Given the description of an element on the screen output the (x, y) to click on. 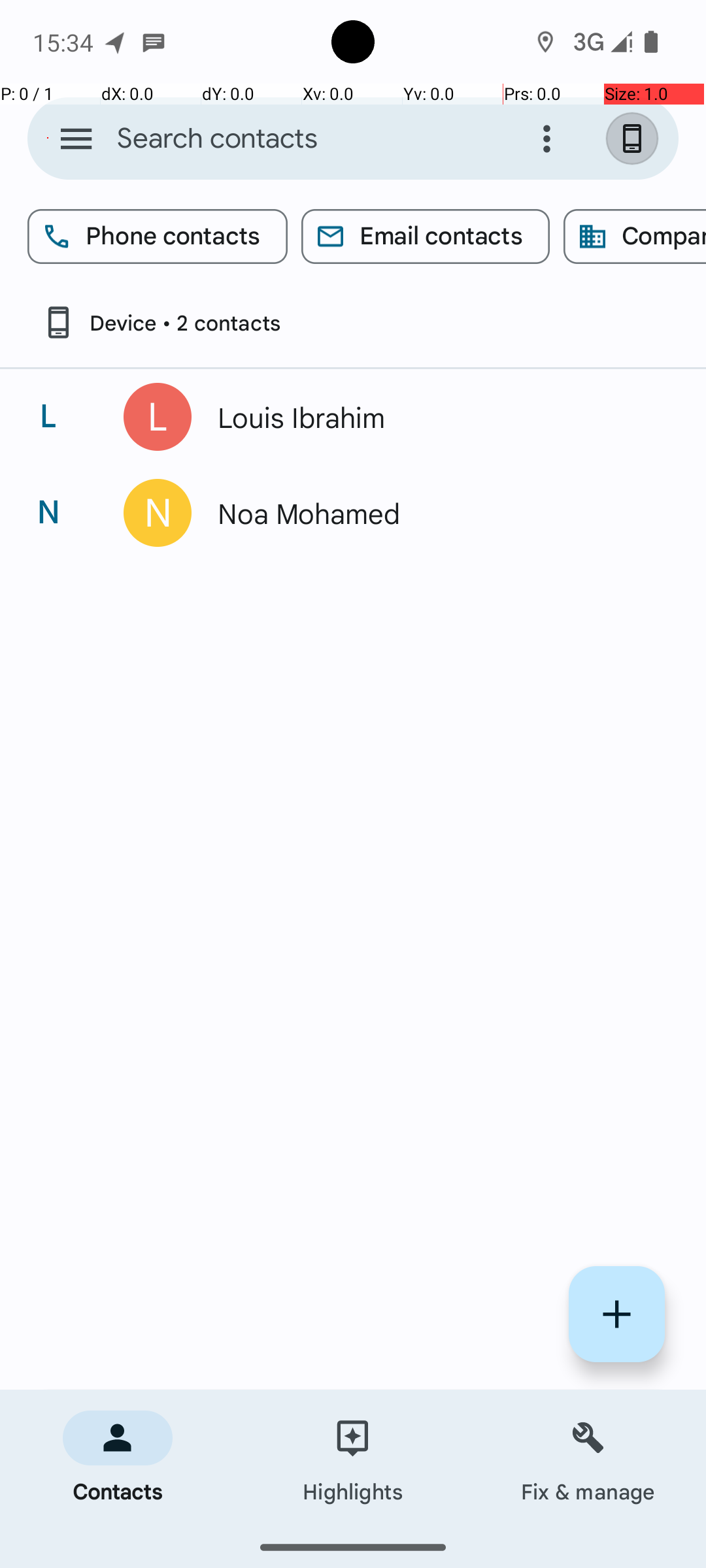
Device • 2 contacts Element type: android.widget.TextView (161, 322)
Louis Ibrahim Element type: android.widget.TextView (434, 416)
Noa Mohamed Element type: android.widget.TextView (434, 512)
SMS Messenger notification: Noa Mohamed Element type: android.widget.ImageView (153, 41)
